Given the description of an element on the screen output the (x, y) to click on. 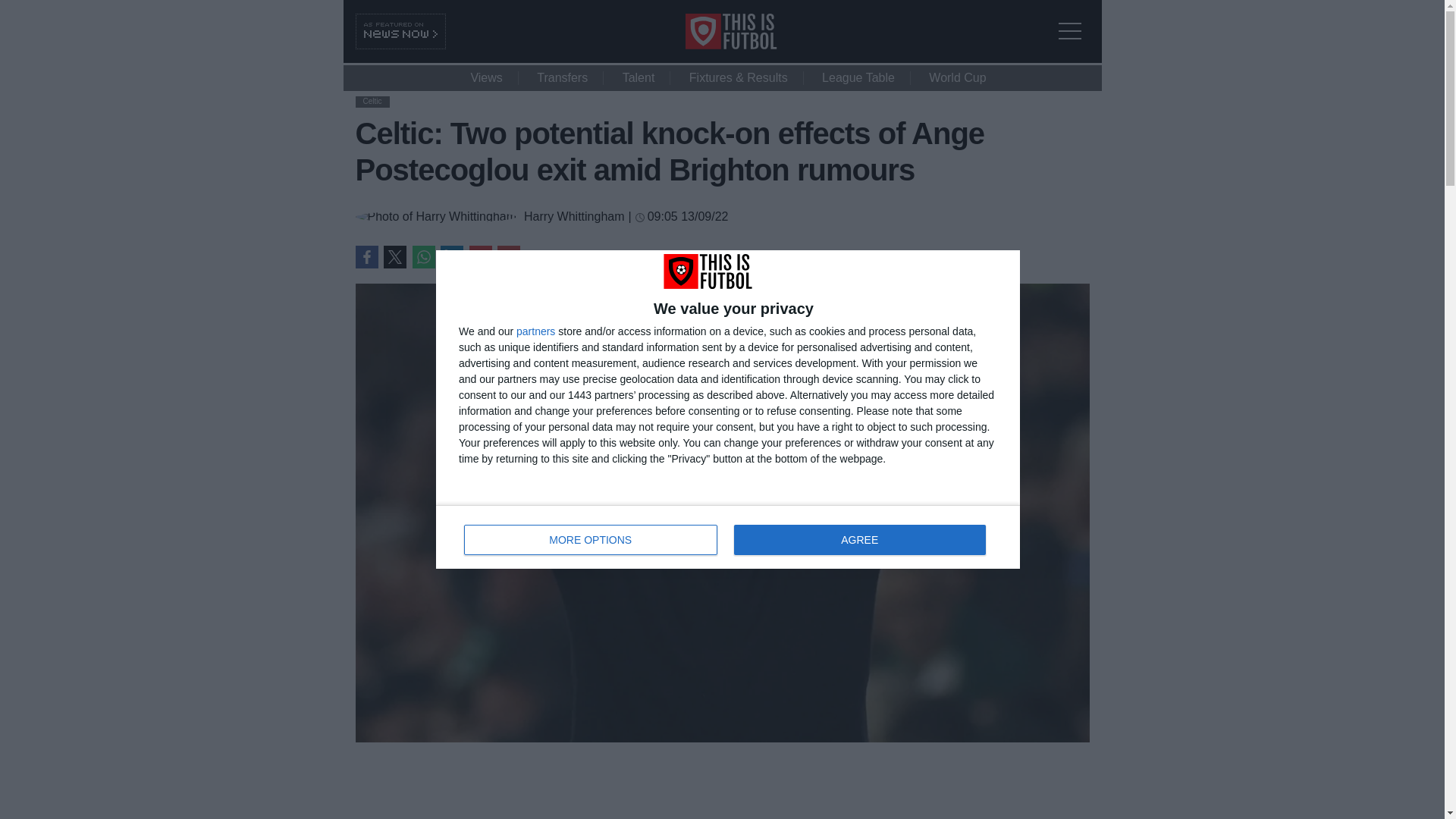
share on WhatsApp (423, 256)
MORE OPTIONS (590, 539)
Transfers (561, 78)
Views (485, 78)
Harry Whittingham (574, 216)
share on Facebook (366, 256)
Back to the homepage (751, 44)
partners (535, 330)
Talent (638, 78)
share on Email (508, 256)
share on LinkedIn (452, 256)
share on Twitter (727, 536)
World Cup (395, 256)
League Table (957, 78)
